Given the description of an element on the screen output the (x, y) to click on. 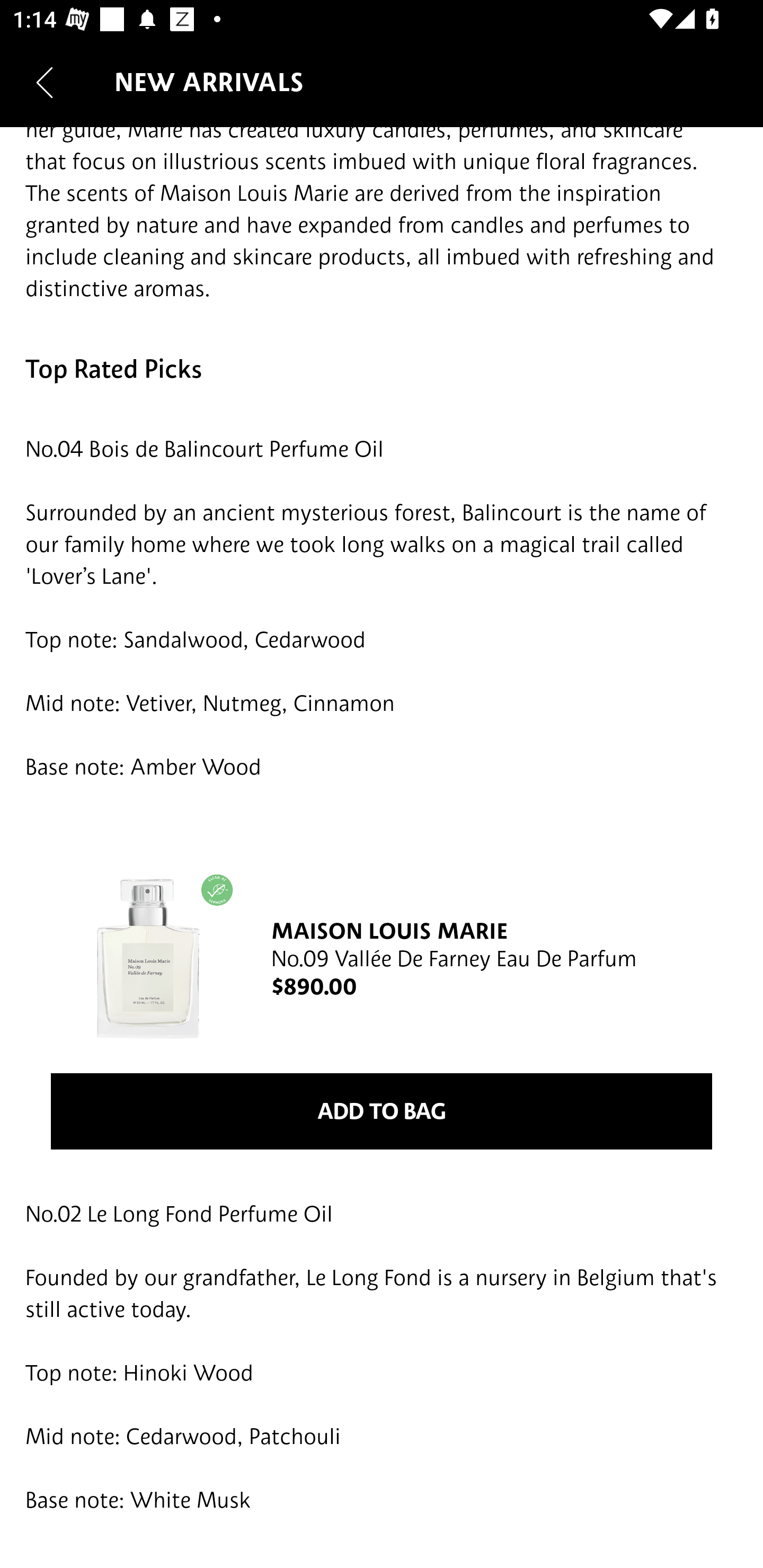
Navigate up (44, 82)
Top Rated Picks (381, 368)
ADD TO BAG (381, 1110)
